Given the description of an element on the screen output the (x, y) to click on. 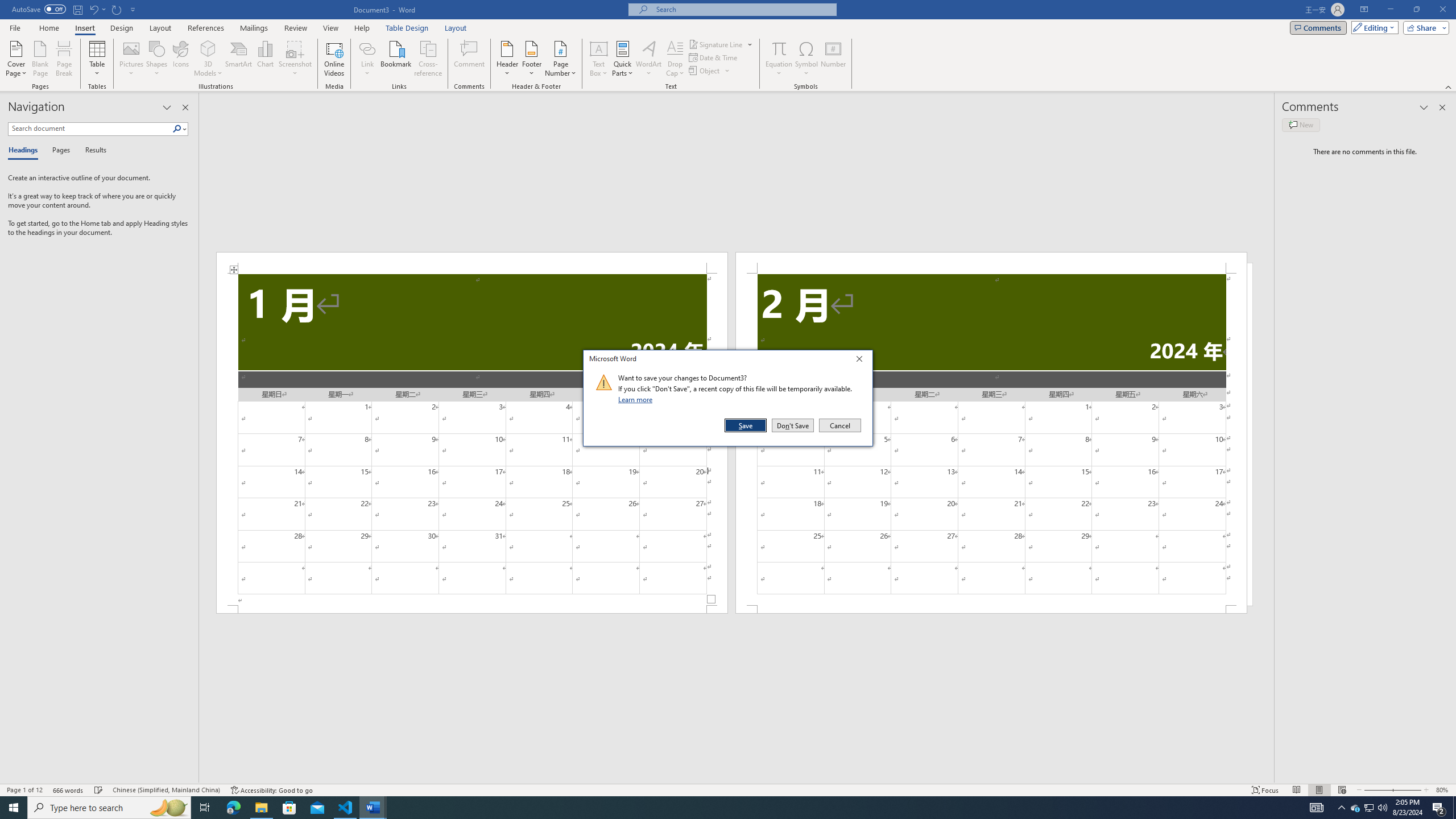
Chart... (265, 58)
Signature Line (716, 44)
Page Number Page 1 of 12 (24, 790)
Page Break (63, 58)
Table (97, 58)
